Given the description of an element on the screen output the (x, y) to click on. 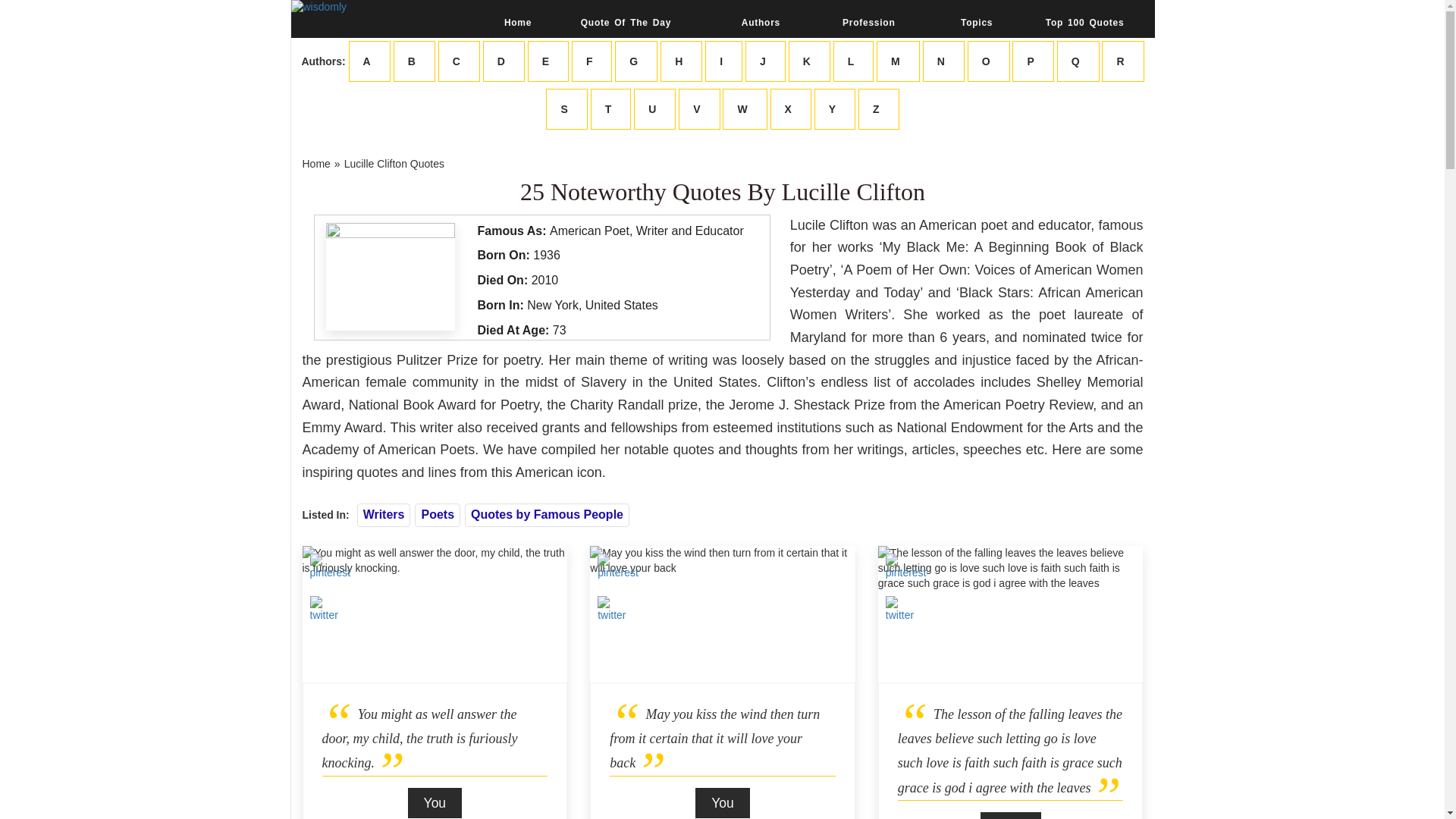
B (414, 60)
Y (834, 108)
T (611, 108)
Topics (976, 22)
A (369, 60)
O (989, 60)
J (765, 60)
P (1031, 60)
V (698, 108)
Writers (383, 513)
